Given the description of an element on the screen output the (x, y) to click on. 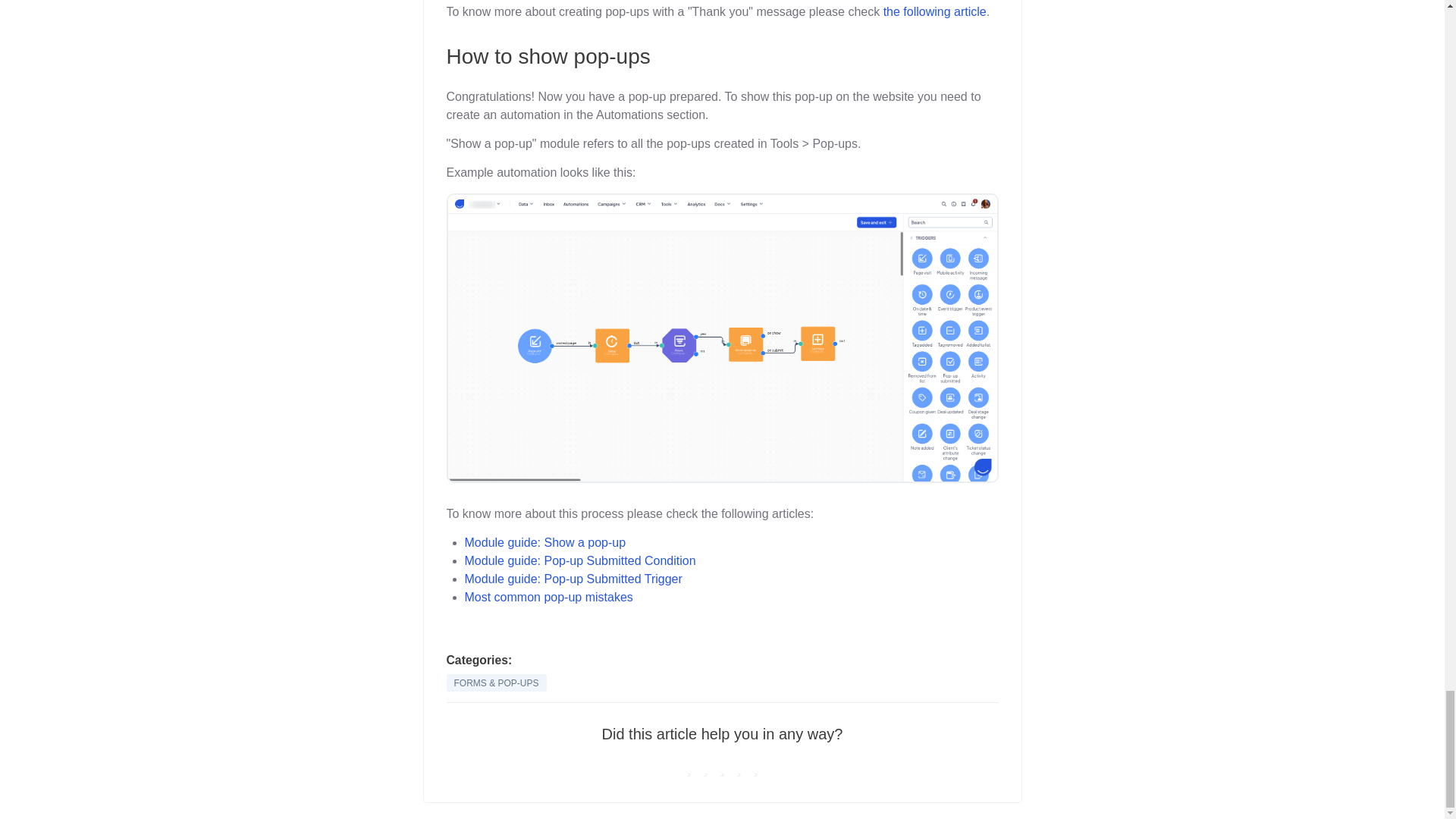
Module guide: Pop-up Submitted Trigger (572, 578)
Module guide: Show a pop-up (545, 542)
Module guide: Pop-up Submitted Condition (579, 560)
the following article (935, 11)
Most common pop-up mistakes (547, 596)
